Given the description of an element on the screen output the (x, y) to click on. 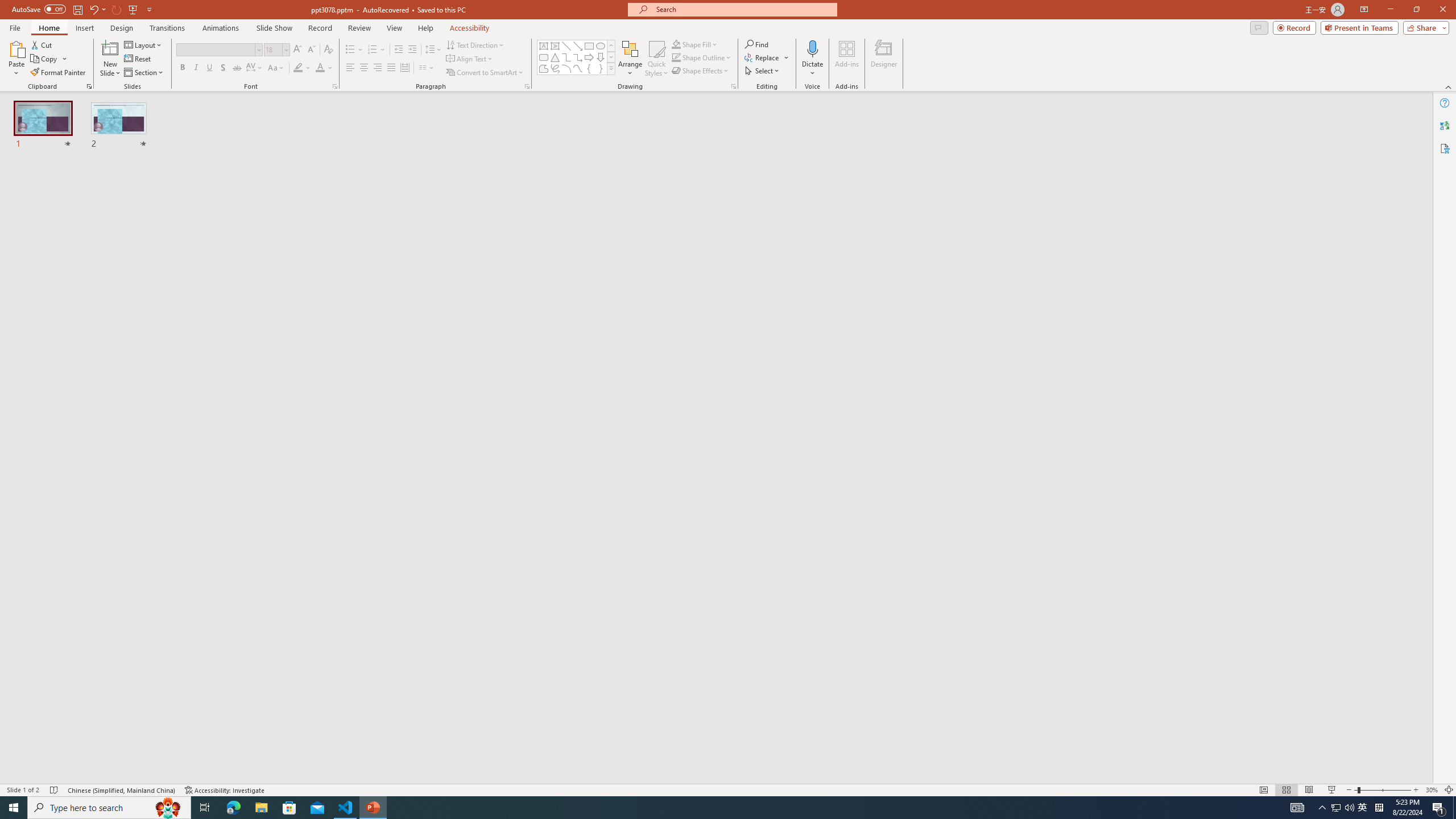
Justify (390, 67)
Align Right (377, 67)
Underline (209, 67)
Office Clipboard... (88, 85)
Italic (195, 67)
Shape Fill Dark Green, Accent 2 (675, 44)
Connector: Elbow (566, 57)
Vertical Text Box (554, 45)
